Given the description of an element on the screen output the (x, y) to click on. 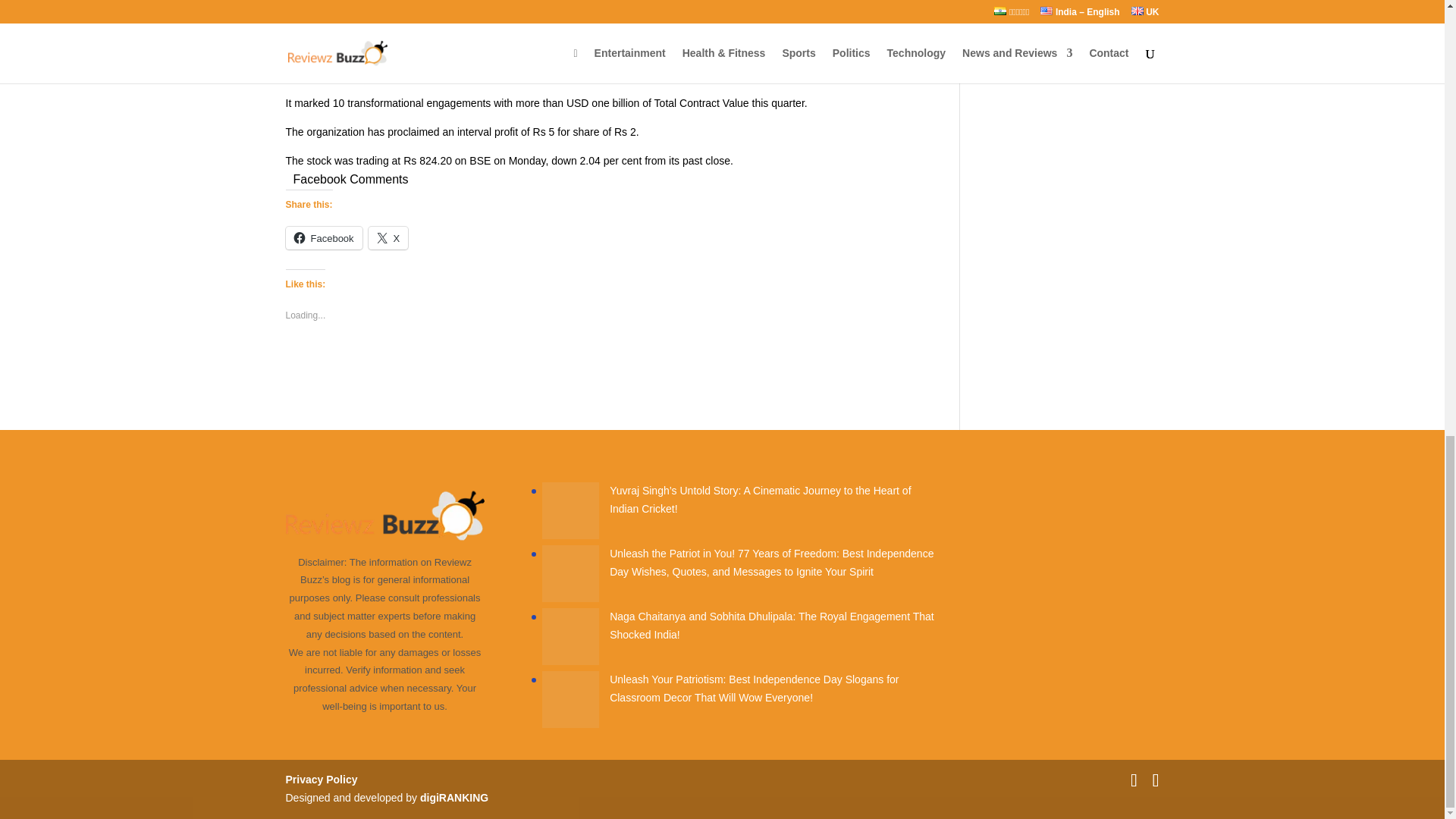
Click to share on Facebook (323, 237)
Click to share on X (388, 237)
Facebook (323, 237)
X (388, 237)
